Given the description of an element on the screen output the (x, y) to click on. 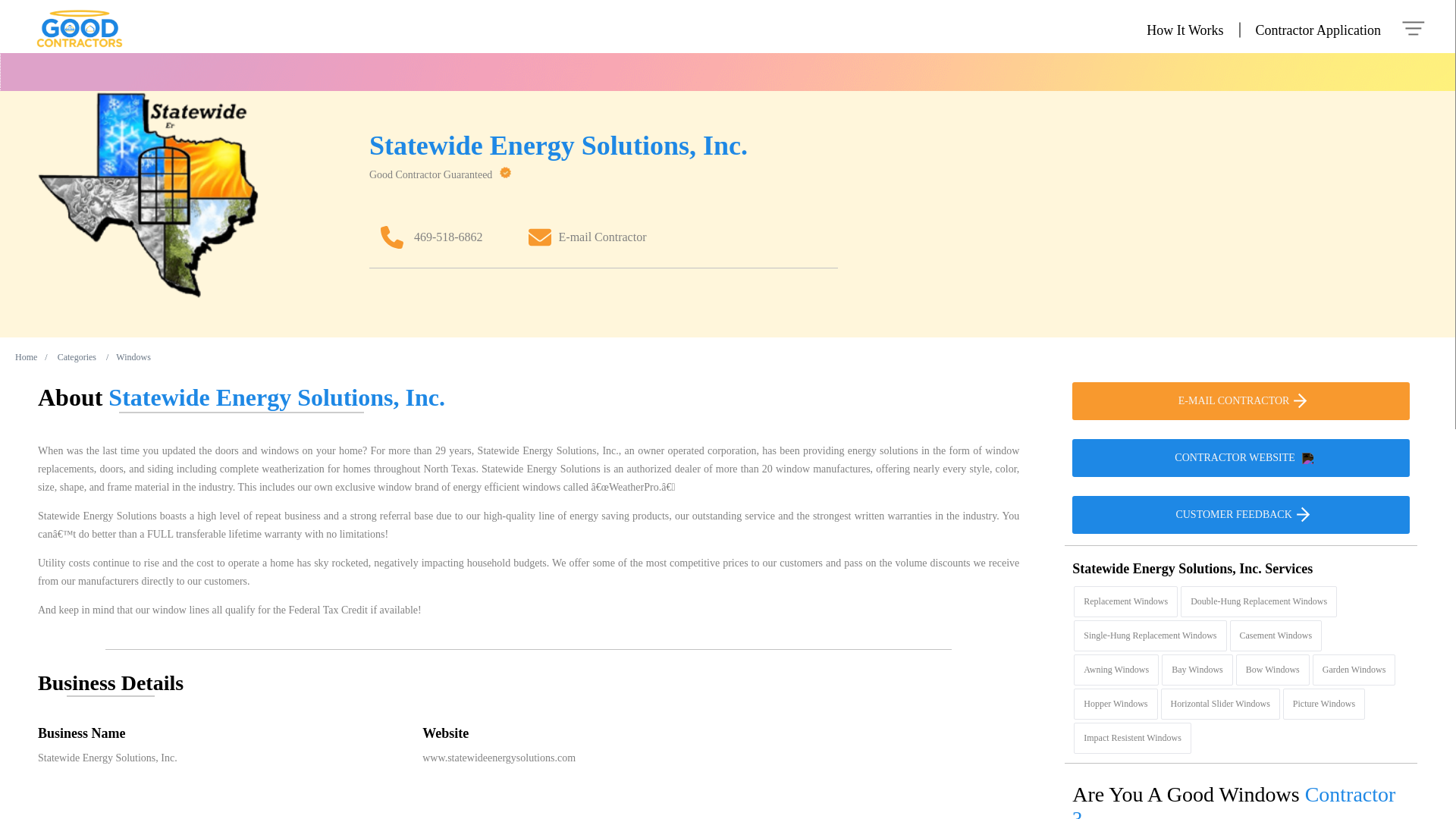
How It Works (1185, 30)
How It Works (1185, 30)
Garden Windows (1354, 669)
Contractor Application (1317, 29)
Home (25, 357)
Single-Hung Replacement Windows (1149, 635)
Bow Windows (1272, 669)
The Good Contractors List Home (62, 29)
Categories (77, 357)
Home (25, 357)
